Given the description of an element on the screen output the (x, y) to click on. 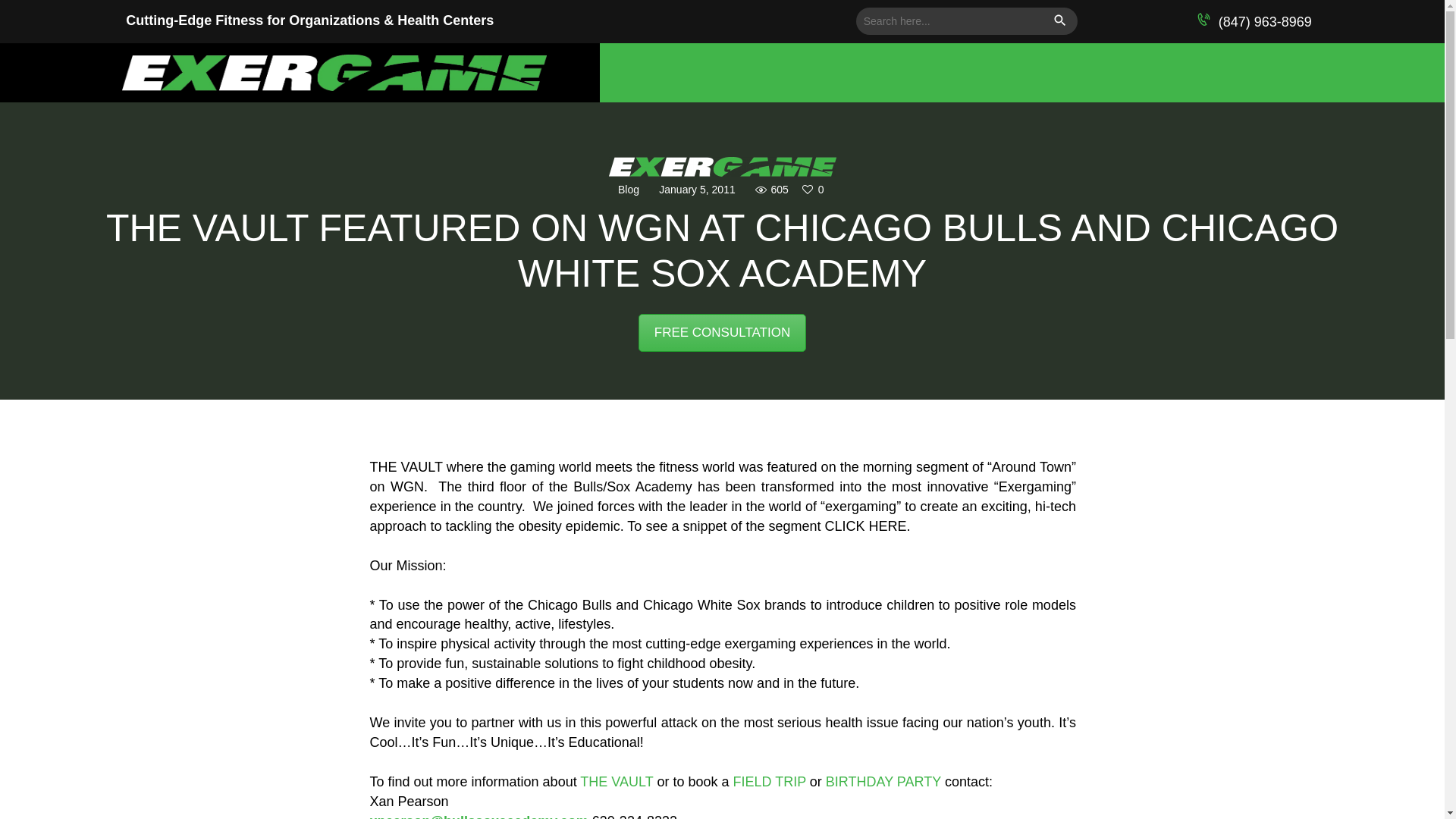
Like (814, 189)
SEARCH BUTTON (1063, 21)
logo (721, 166)
